Given the description of an element on the screen output the (x, y) to click on. 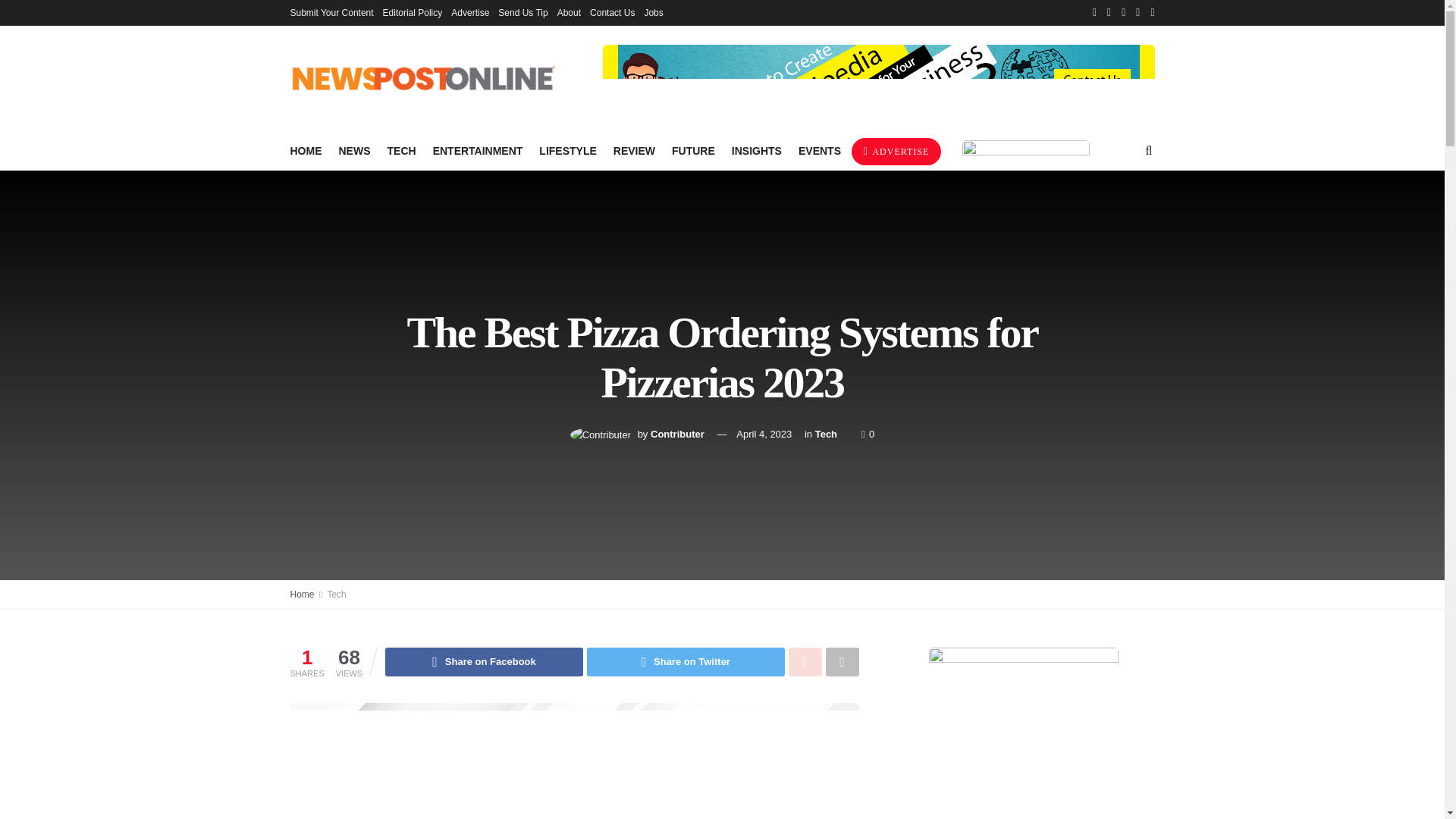
NEWS (353, 150)
Contact Us (611, 12)
Send Us Tip (522, 12)
About (568, 12)
TECH (400, 150)
Submit Your Content (330, 12)
Advertise (470, 12)
HOME (305, 150)
Editorial Policy (412, 12)
